Given the description of an element on the screen output the (x, y) to click on. 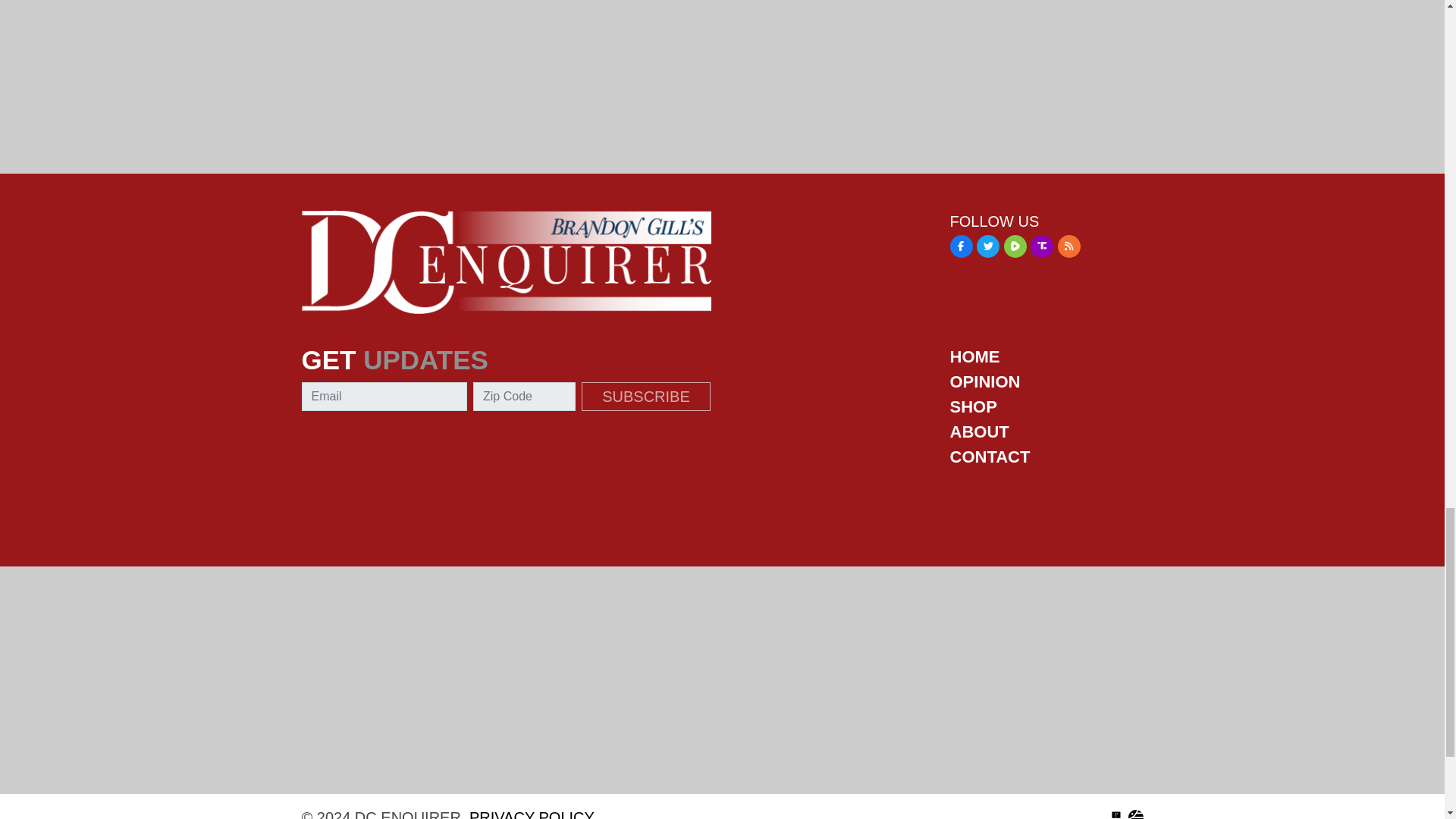
Twitter (987, 246)
RSS (1069, 246)
Rumble (1015, 246)
Advertisement (721, 499)
Powered by Conservative Stack (1135, 814)
Facebook (960, 246)
Truth (1041, 246)
